Given the description of an element on the screen output the (x, y) to click on. 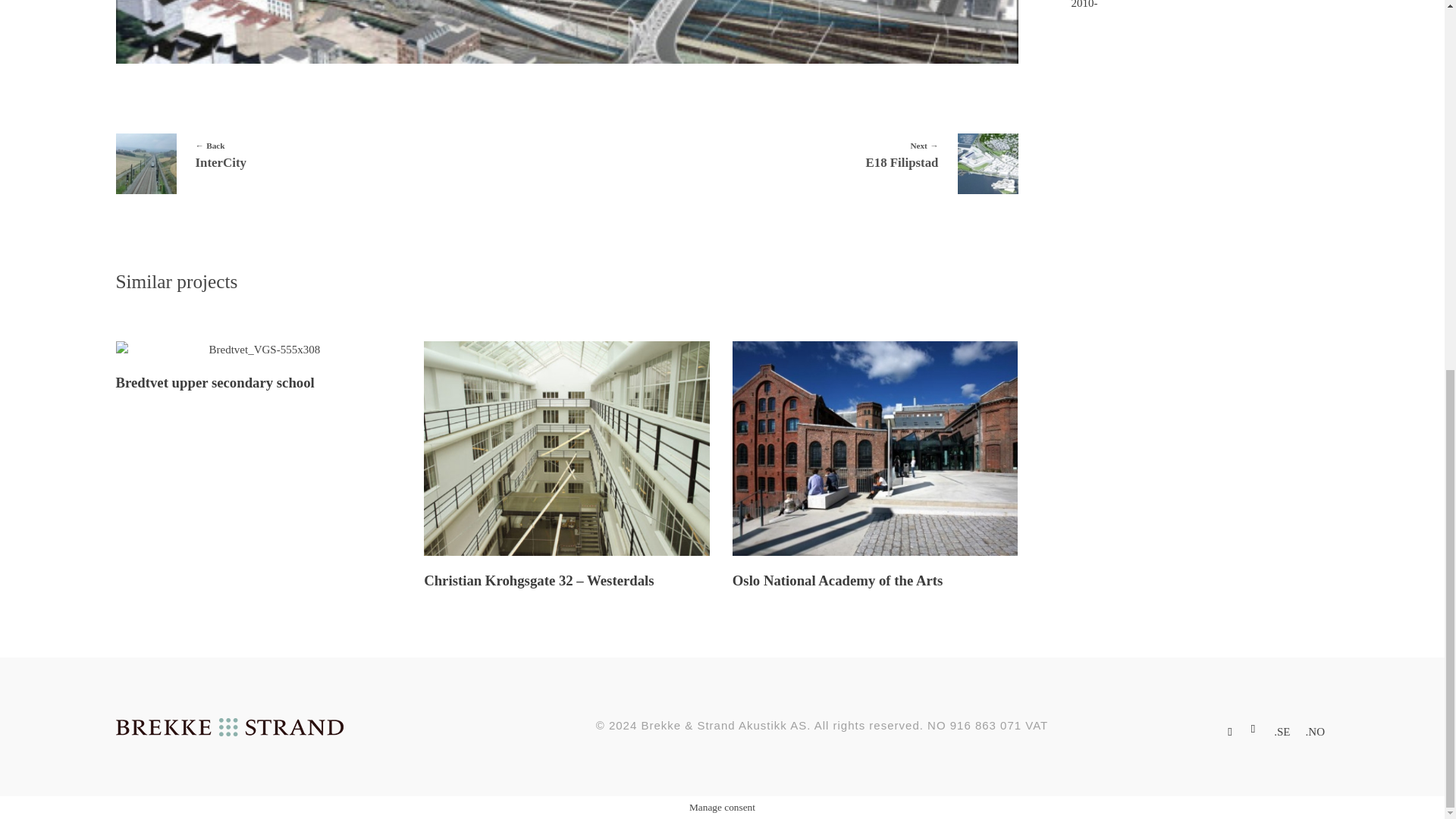
Bredtvet upper secondary school (214, 382)
.SE (797, 151)
.NO (1282, 732)
Oslo National Academy of the Arts (334, 151)
